Given the description of an element on the screen output the (x, y) to click on. 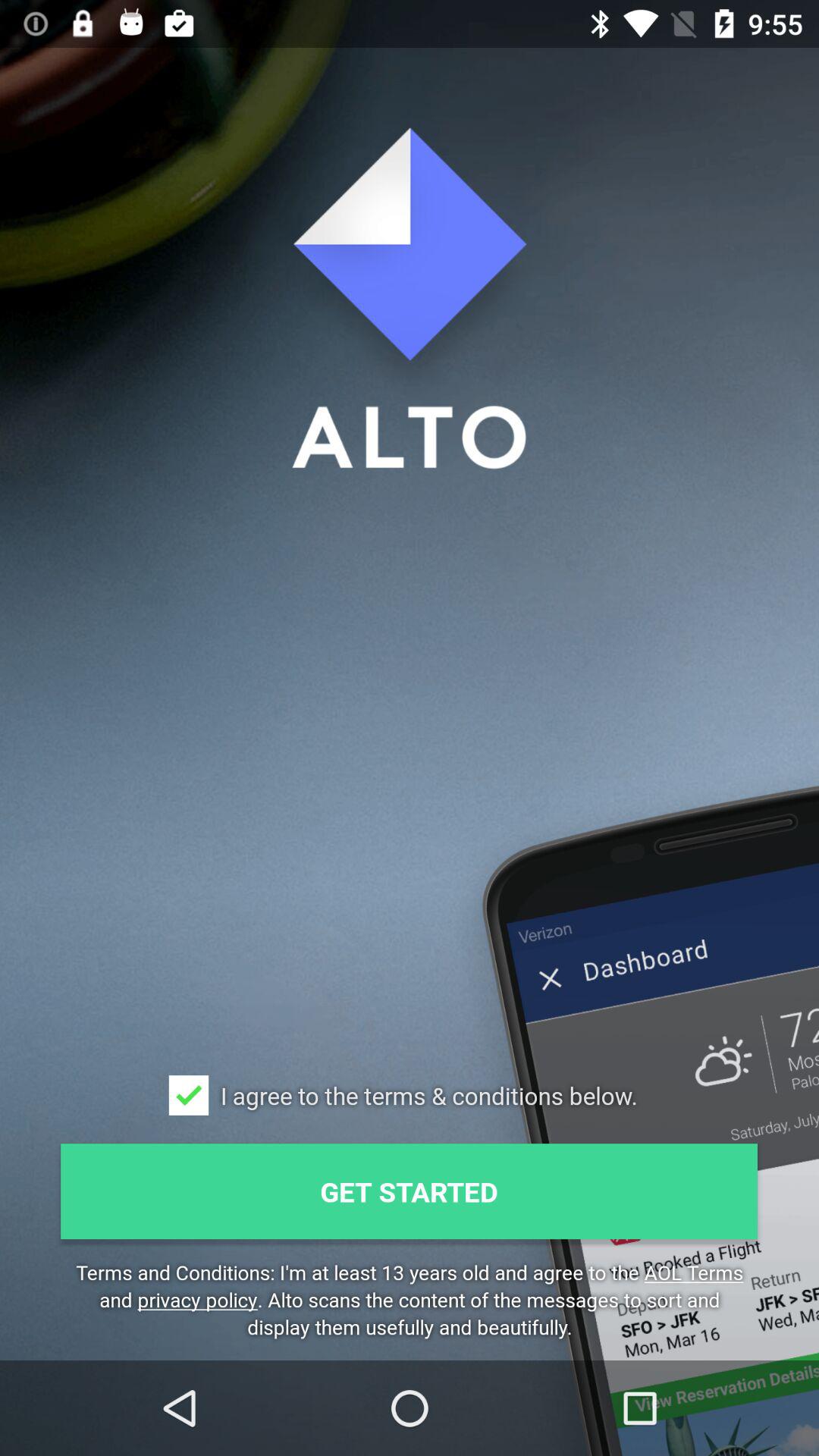
select the icon at the bottom left corner (188, 1095)
